Given the description of an element on the screen output the (x, y) to click on. 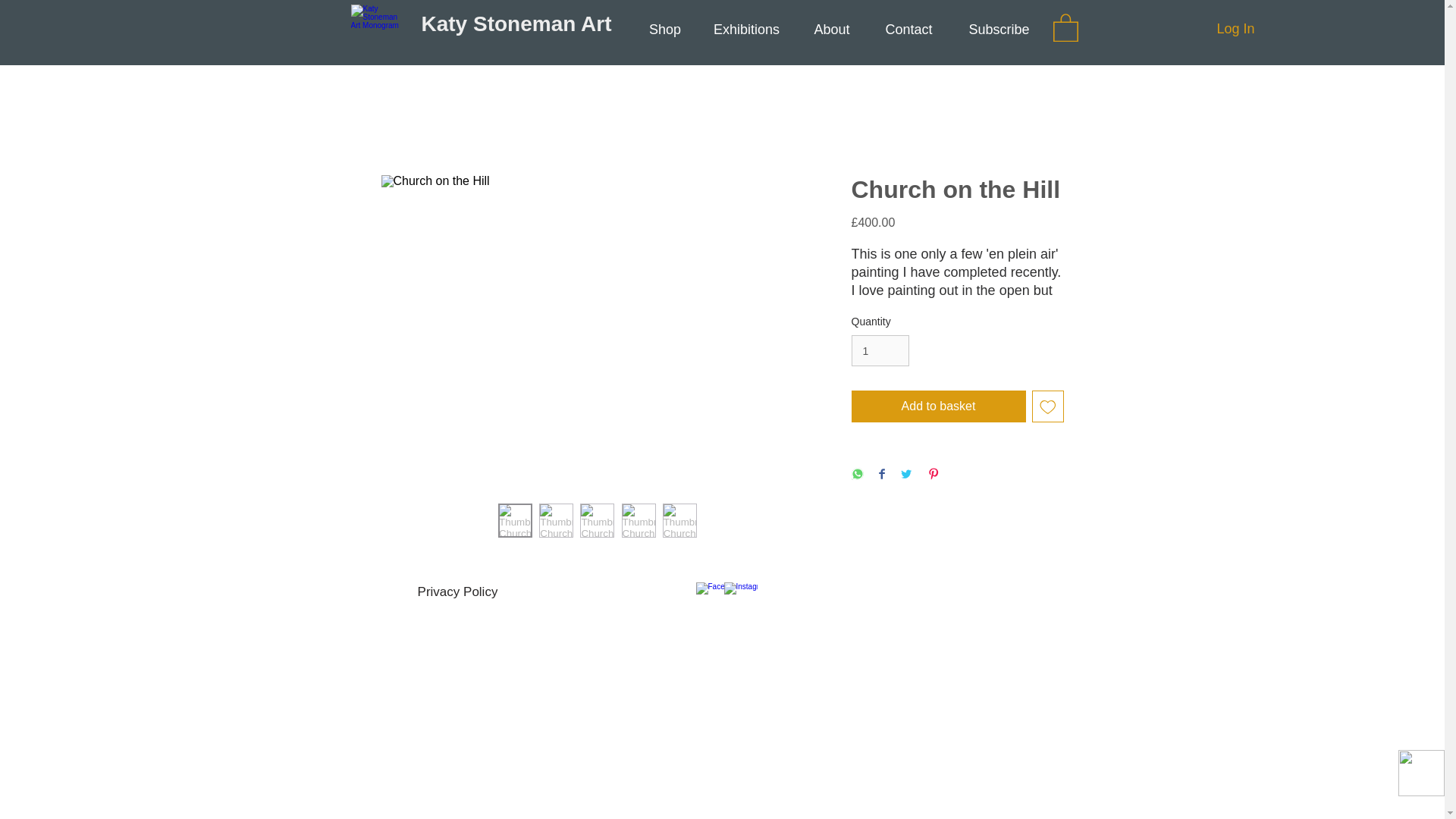
About (831, 29)
Shop (664, 29)
Add to basket (937, 406)
Log In (1235, 29)
Privacy Policy (457, 592)
Subscribe (998, 29)
1 (879, 350)
Exhibitions (746, 29)
Contact (908, 29)
Katy Stoneman Art (515, 24)
